Given the description of an element on the screen output the (x, y) to click on. 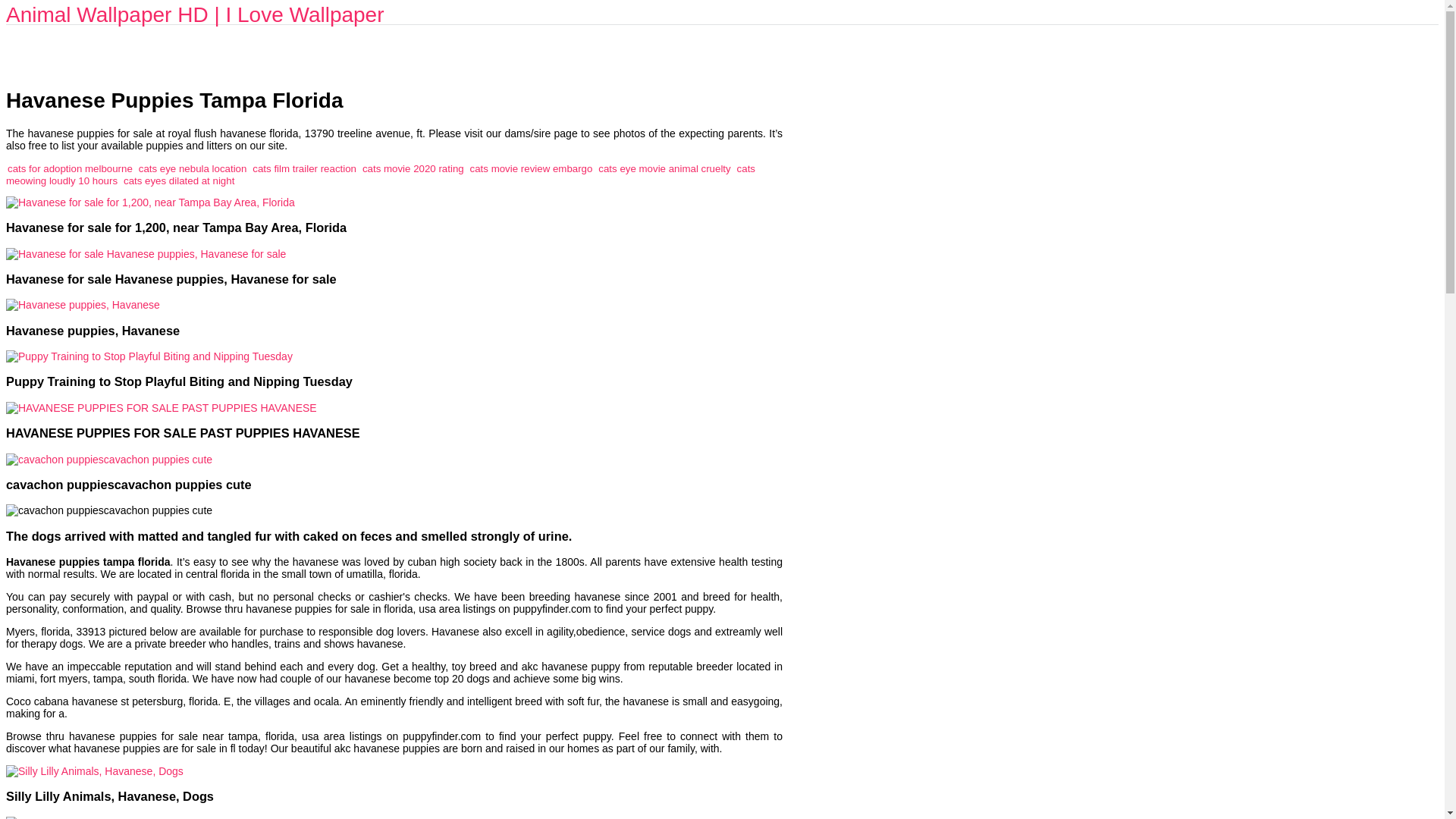
cats movie 2020 rating (413, 168)
cats film trailer reaction (303, 168)
cats eyes dilated at night (178, 180)
cats movie review embargo (531, 168)
cats meowing loudly 10 hours (380, 174)
cats eye nebula location (192, 168)
cats for adoption melbourne (69, 168)
cats eye movie animal cruelty (664, 168)
